Given the description of an element on the screen output the (x, y) to click on. 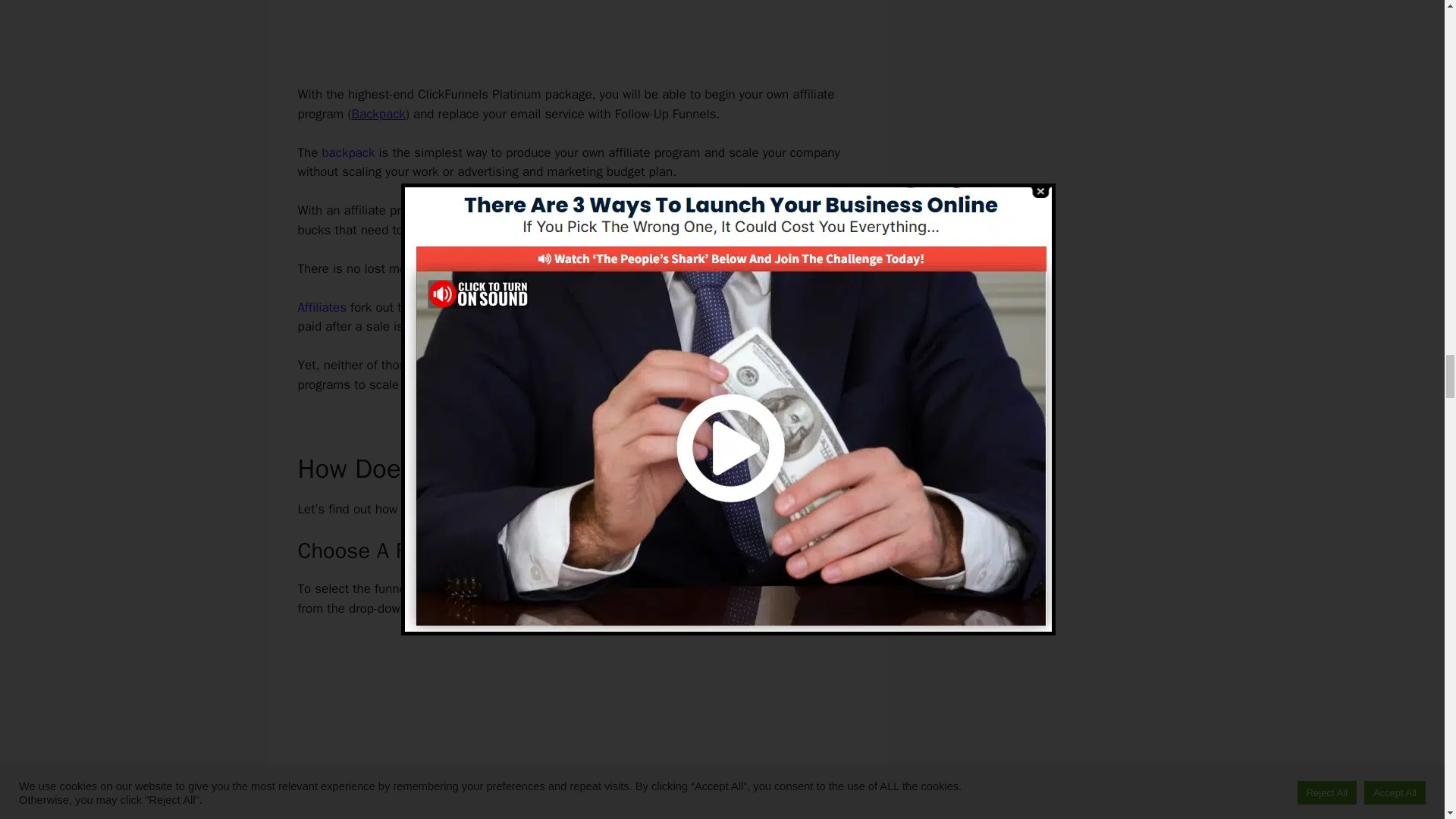
backpack (347, 152)
Backpack (377, 114)
Affiliates (321, 307)
